Given the description of an element on the screen output the (x, y) to click on. 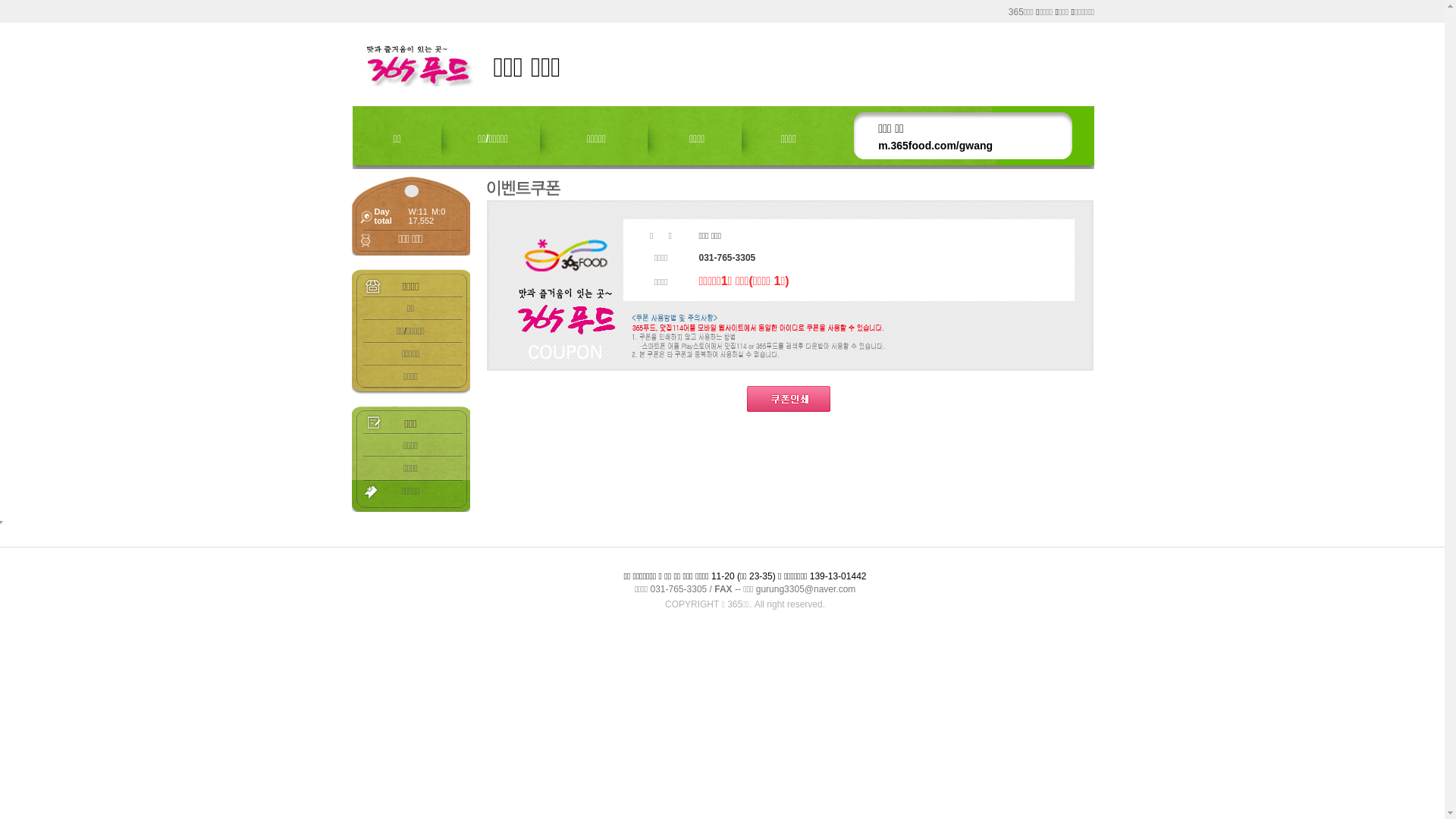
m.365food.com/gwang Element type: text (935, 145)
